Given the description of an element on the screen output the (x, y) to click on. 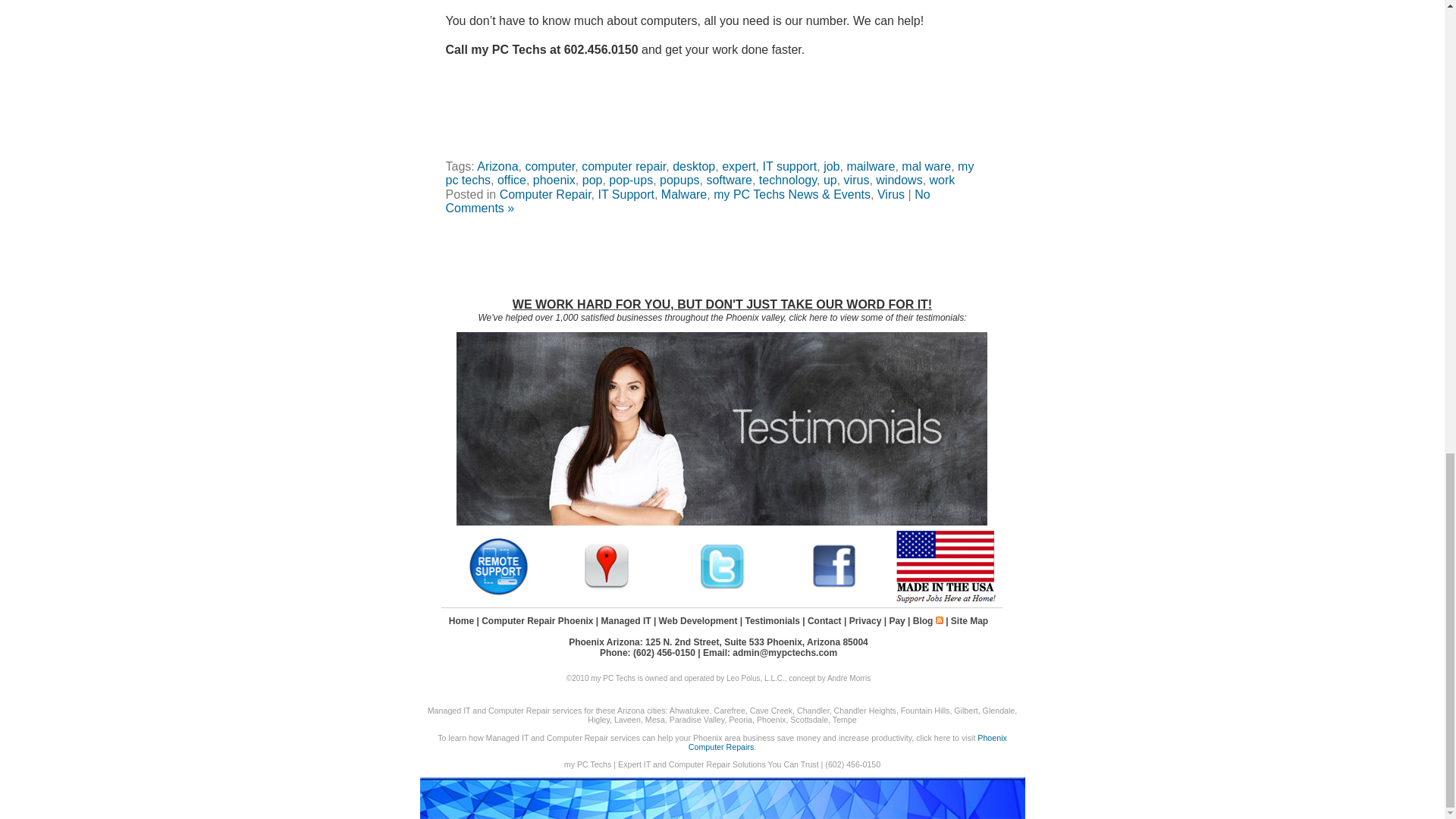
my pc techs (709, 173)
office (511, 179)
desktop (693, 165)
IT support (789, 165)
computer repair (622, 165)
job (832, 165)
mal ware (925, 165)
computer (549, 165)
mailware (870, 165)
Arizona (497, 165)
expert (738, 165)
